Given the description of an element on the screen output the (x, y) to click on. 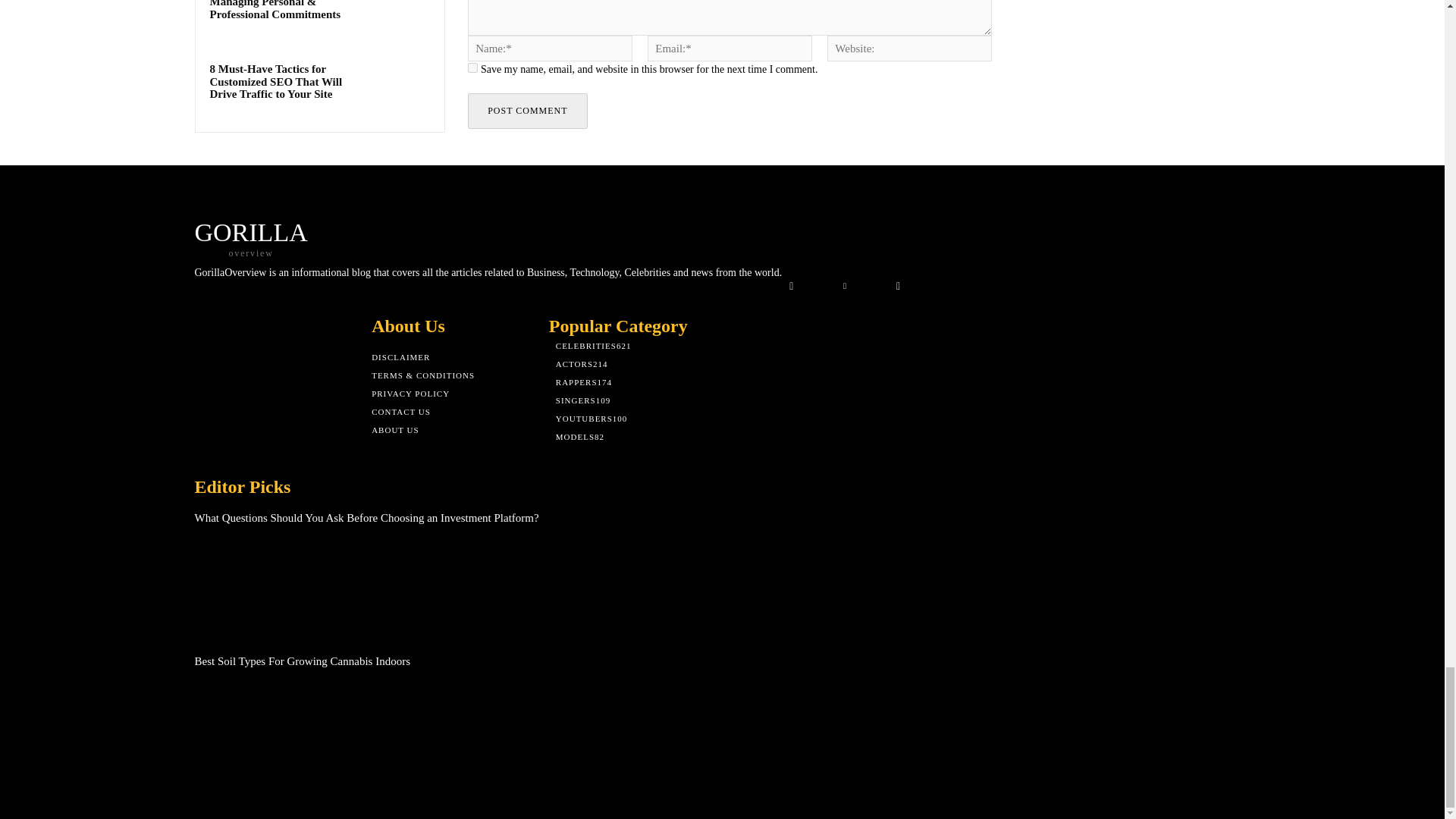
yes (472, 67)
Post Comment (526, 110)
